Given the description of an element on the screen output the (x, y) to click on. 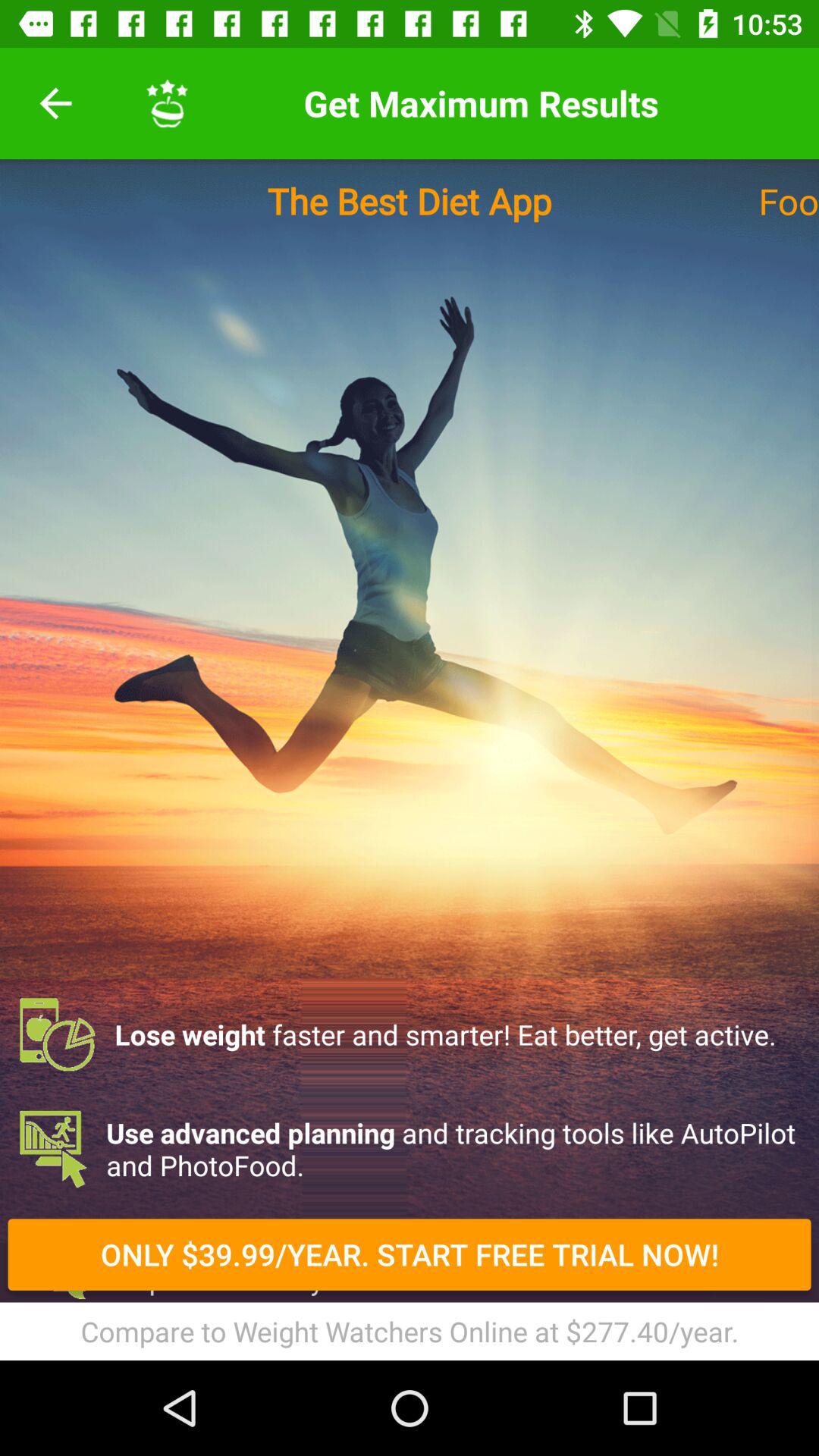
select the get diet advice icon (409, 1262)
